Given the description of an element on the screen output the (x, y) to click on. 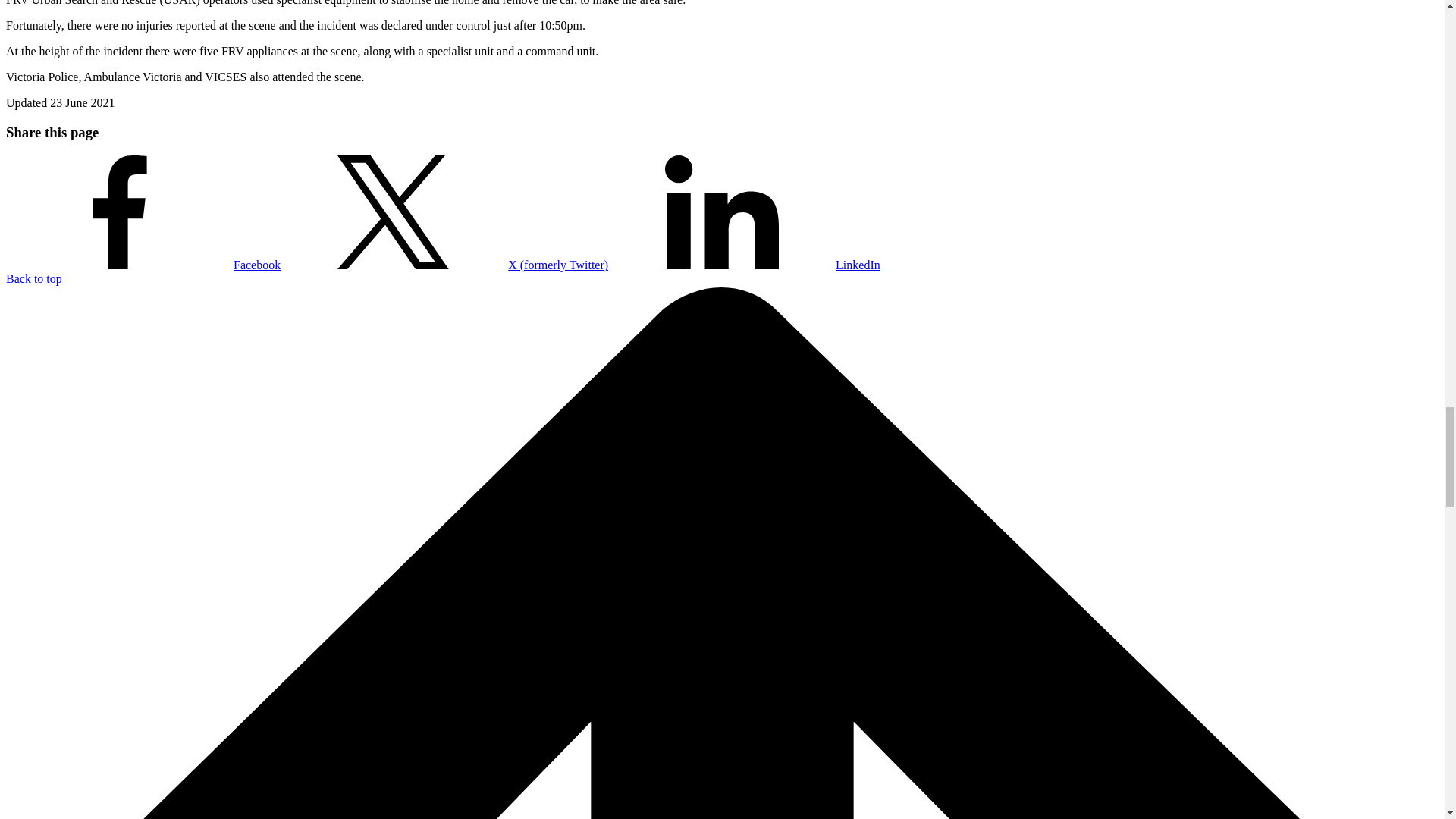
Facebook (143, 264)
LinkedIn (744, 264)
